Given the description of an element on the screen output the (x, y) to click on. 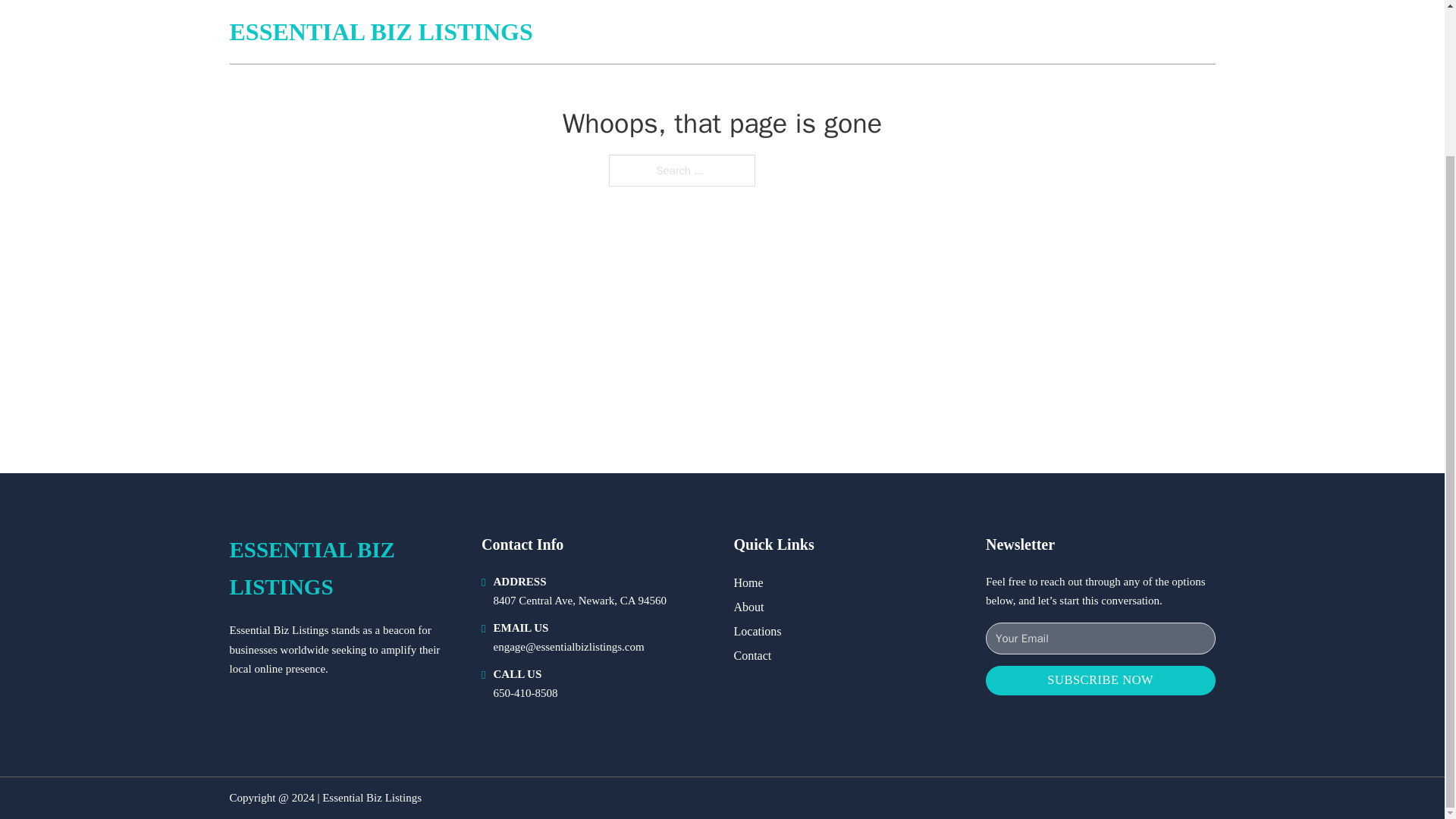
Home (747, 582)
Locations (757, 630)
ESSENTIAL BIZ LISTINGS (343, 568)
Contact (752, 655)
SUBSCRIBE NOW (1100, 680)
650-410-8508 (525, 693)
About (748, 607)
